Given the description of an element on the screen output the (x, y) to click on. 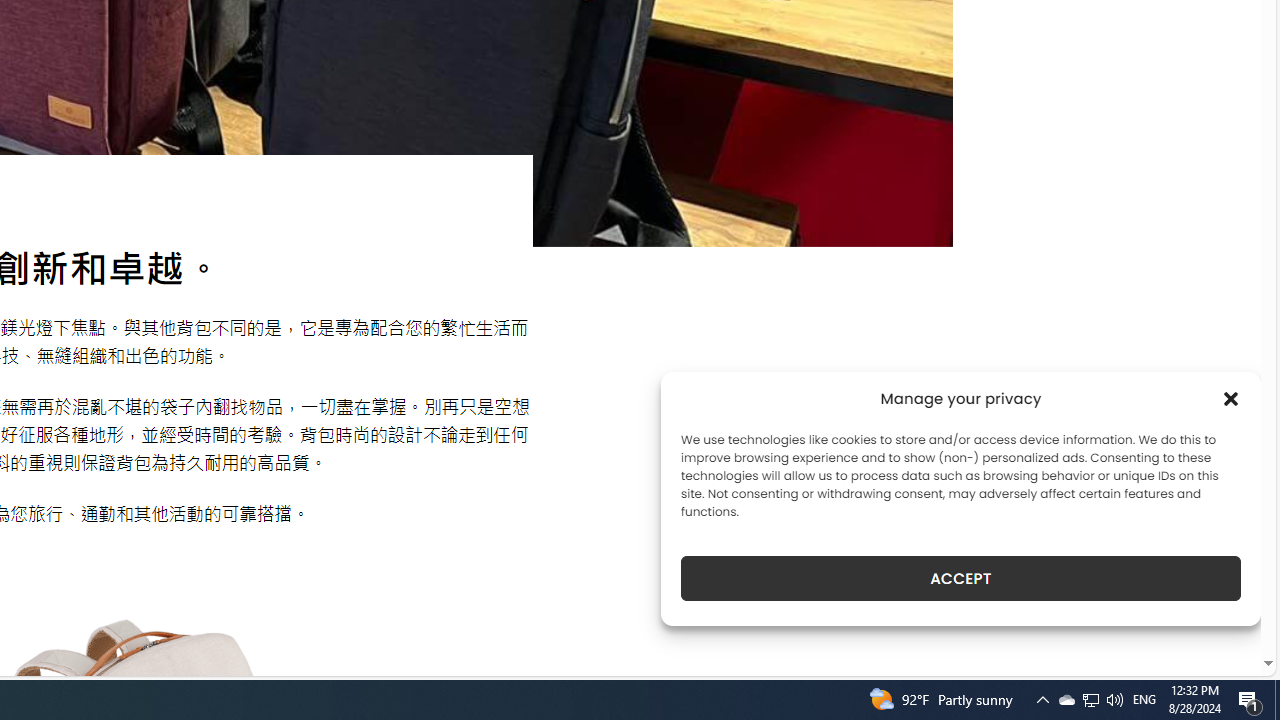
Class: cmplz-close (1231, 398)
ACCEPT (960, 578)
